Given the description of an element on the screen output the (x, y) to click on. 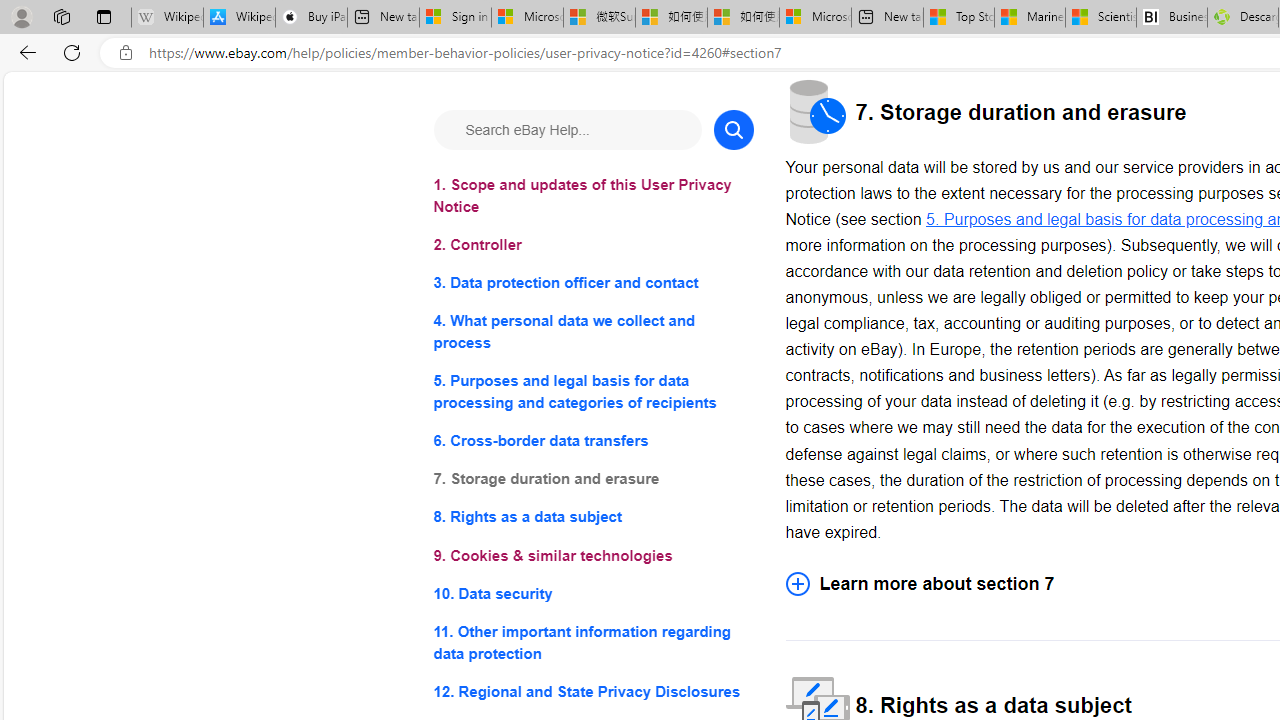
1. Scope and updates of this User Privacy Notice (592, 196)
10. Data security (592, 592)
Search eBay Help... (566, 129)
4. What personal data we collect and process (592, 332)
Marine life - MSN (1029, 17)
Buy iPad - Apple (311, 17)
11. Other important information regarding data protection (592, 642)
Sign in to your Microsoft account (455, 17)
7. Storage duration and erasure (592, 479)
12. Regional and State Privacy Disclosures (592, 690)
